Given the description of an element on the screen output the (x, y) to click on. 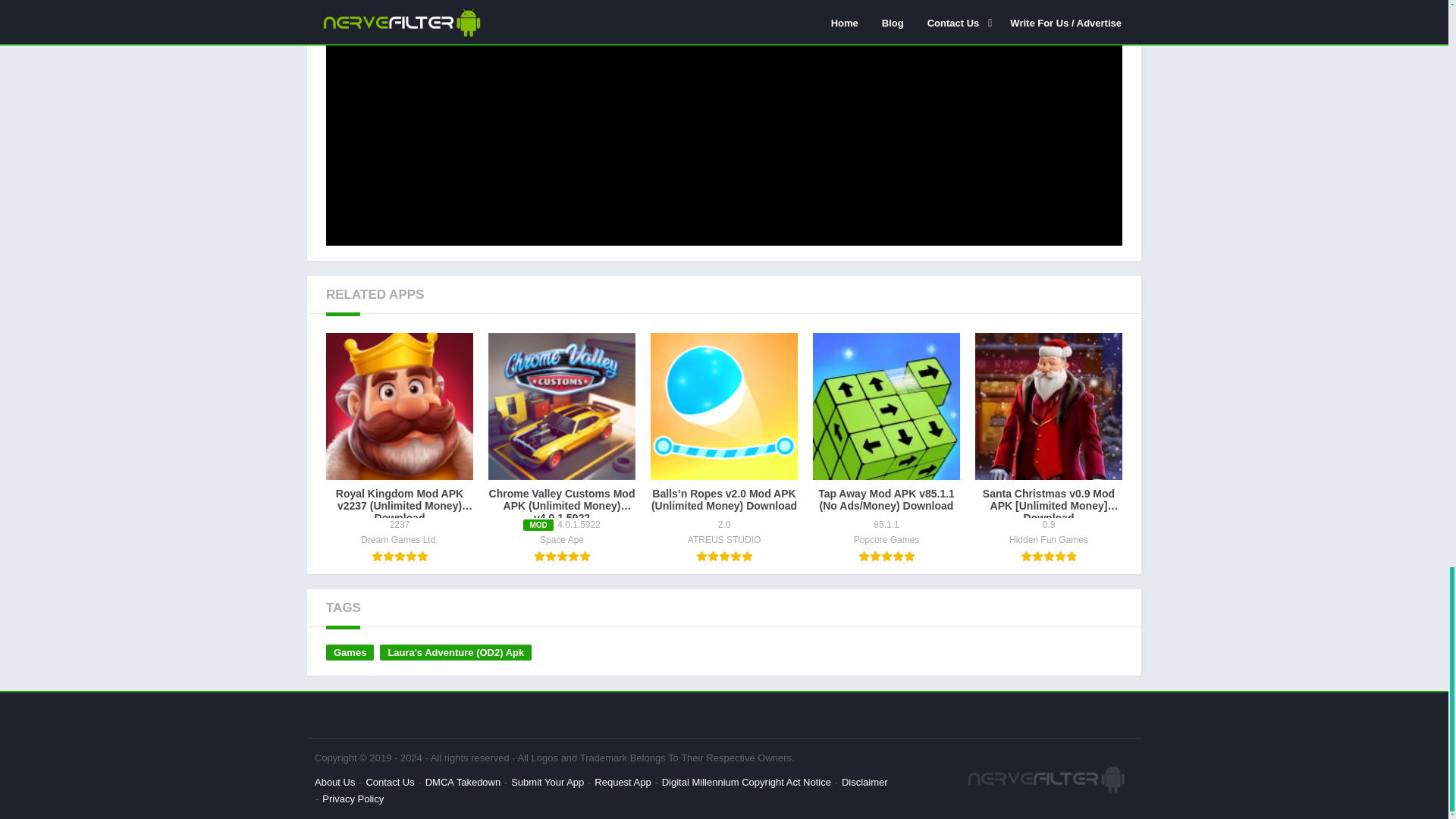
Disclaimer (864, 781)
Digital Millennium Copyright Act Notice (746, 781)
DMCA Takedown (462, 781)
Contact Us (389, 781)
Games (350, 652)
About Us (334, 781)
Submit Your App (547, 781)
Request App (622, 781)
